Given the description of an element on the screen output the (x, y) to click on. 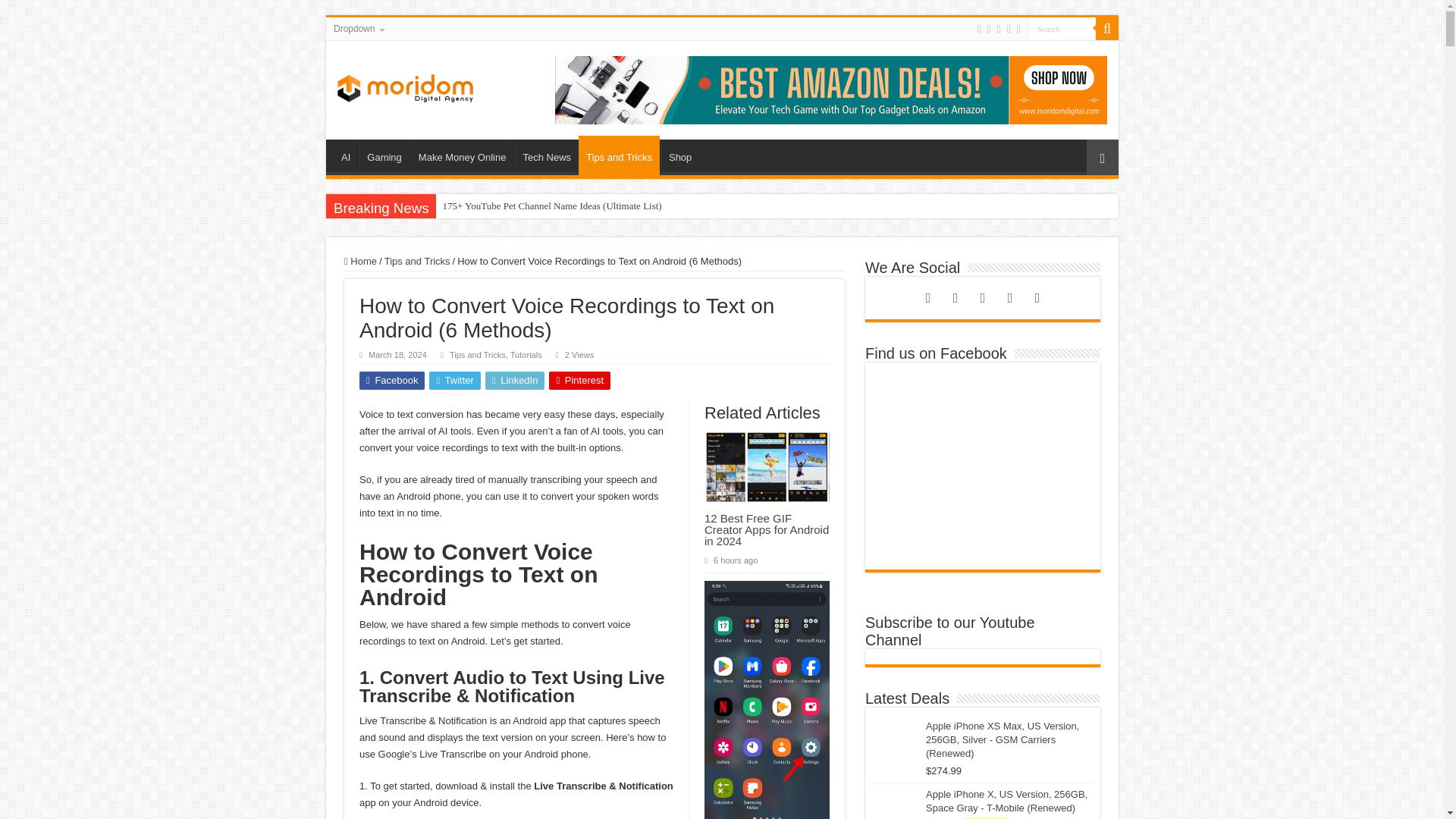
Pinterest (1008, 29)
Rss (978, 29)
AI (345, 155)
Search (1061, 28)
Tips and Tricks (618, 155)
Facebook (988, 29)
Moridom Digital Agency (405, 85)
Search (1061, 28)
Gaming (383, 155)
Shop (679, 155)
Make Money Online (461, 155)
Search (1107, 28)
Tech News (545, 155)
Dropdown (358, 28)
